Given the description of an element on the screen output the (x, y) to click on. 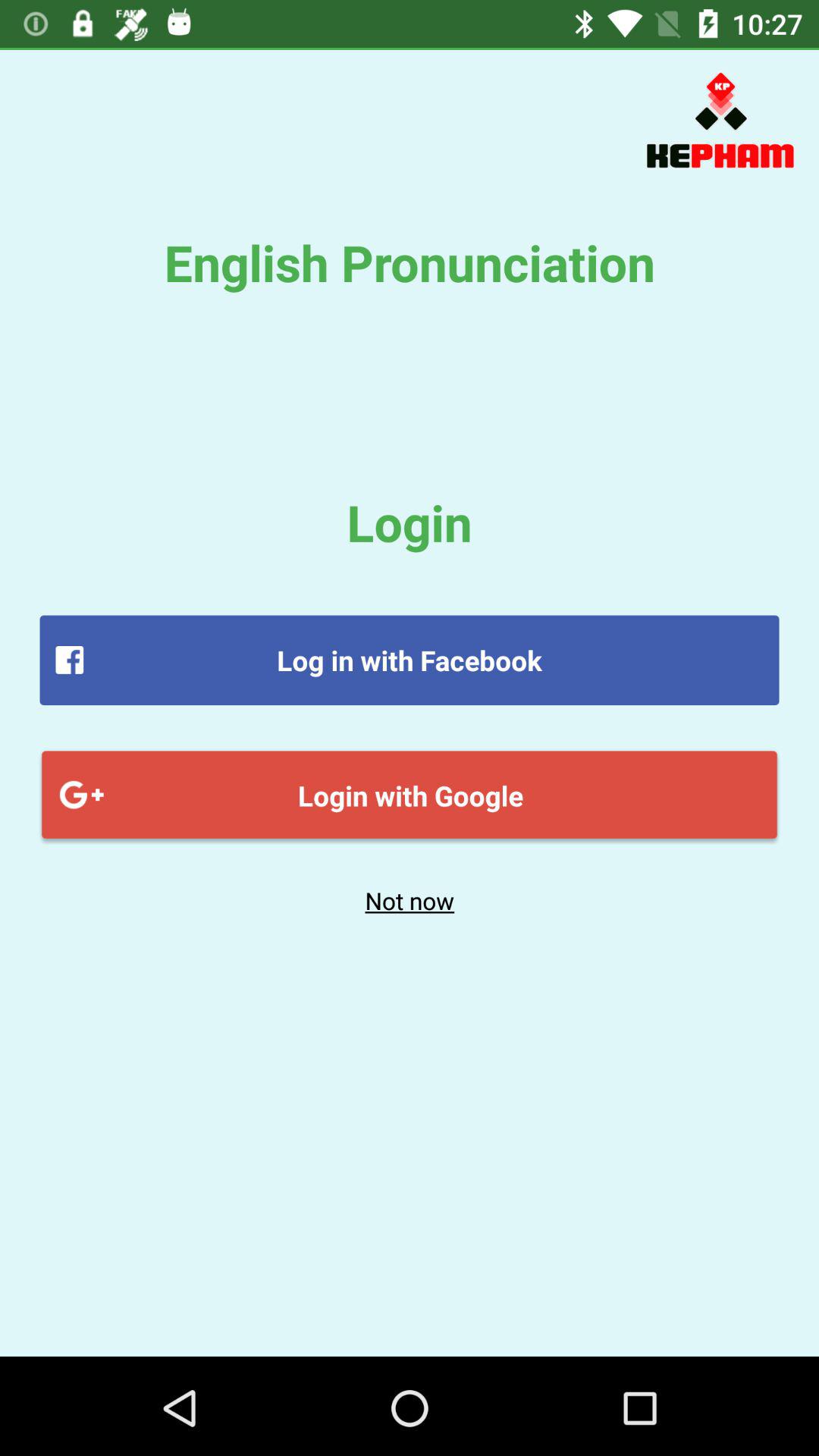
tap the not now (409, 900)
